Given the description of an element on the screen output the (x, y) to click on. 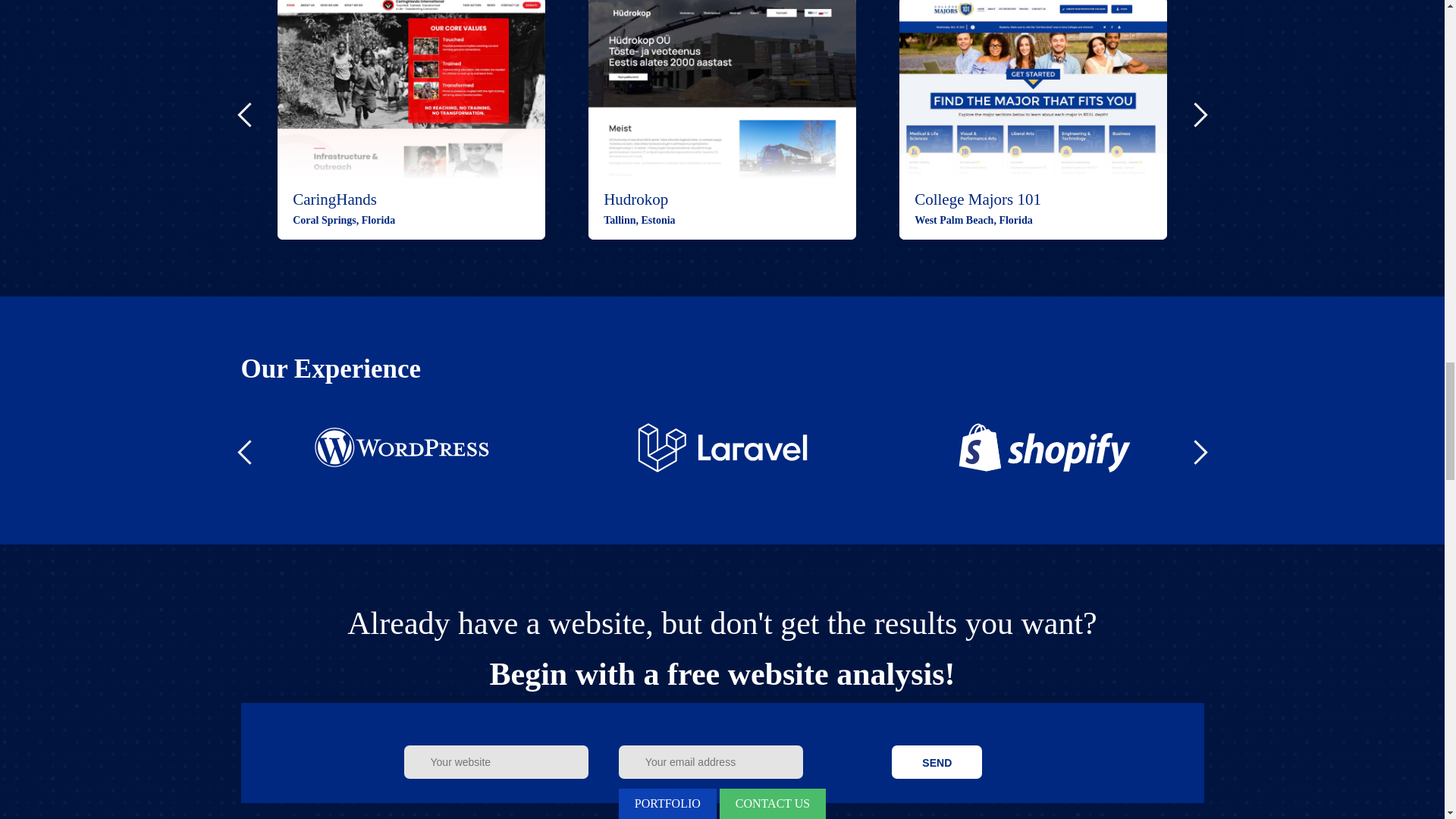
SEND (936, 761)
